Given the description of an element on the screen output the (x, y) to click on. 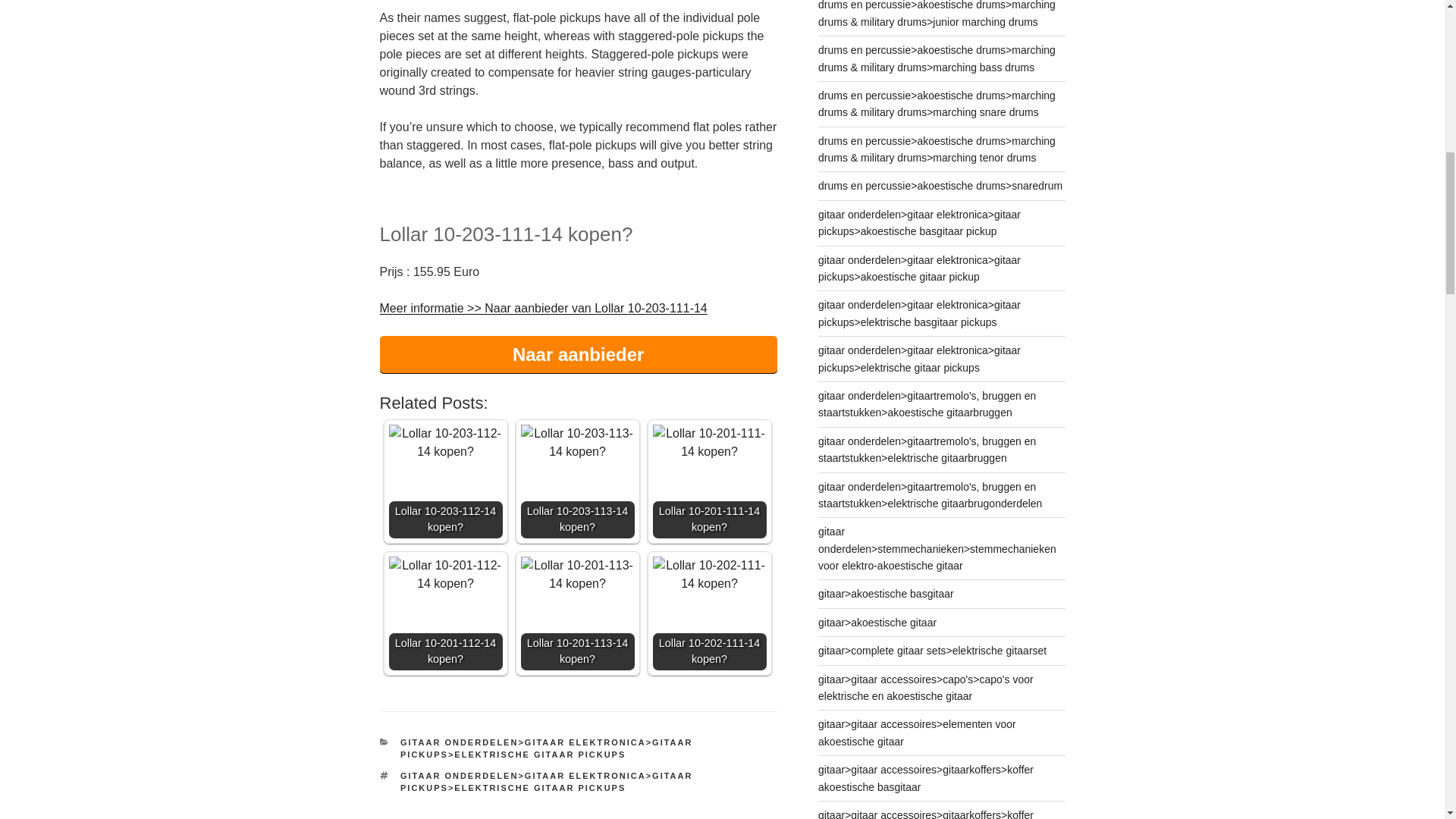
Naar aanbieder (577, 354)
Lollar 10-202-111-14 kopen? (708, 574)
Lollar 10-201-113-14 kopen? (576, 574)
Lollar 10-201-112-14 kopen? (445, 574)
Lollar 10-202-111-14 kopen? (708, 613)
Lollar 10-201-111-14 kopen? (708, 443)
Lollar 10-201-112-14 kopen? (445, 613)
Lollar 10-201-113-14 kopen? (576, 613)
Lollar 10-203-112-14 kopen? (445, 443)
Lollar 10-203-112-14 kopen? (445, 481)
